Given the description of an element on the screen output the (x, y) to click on. 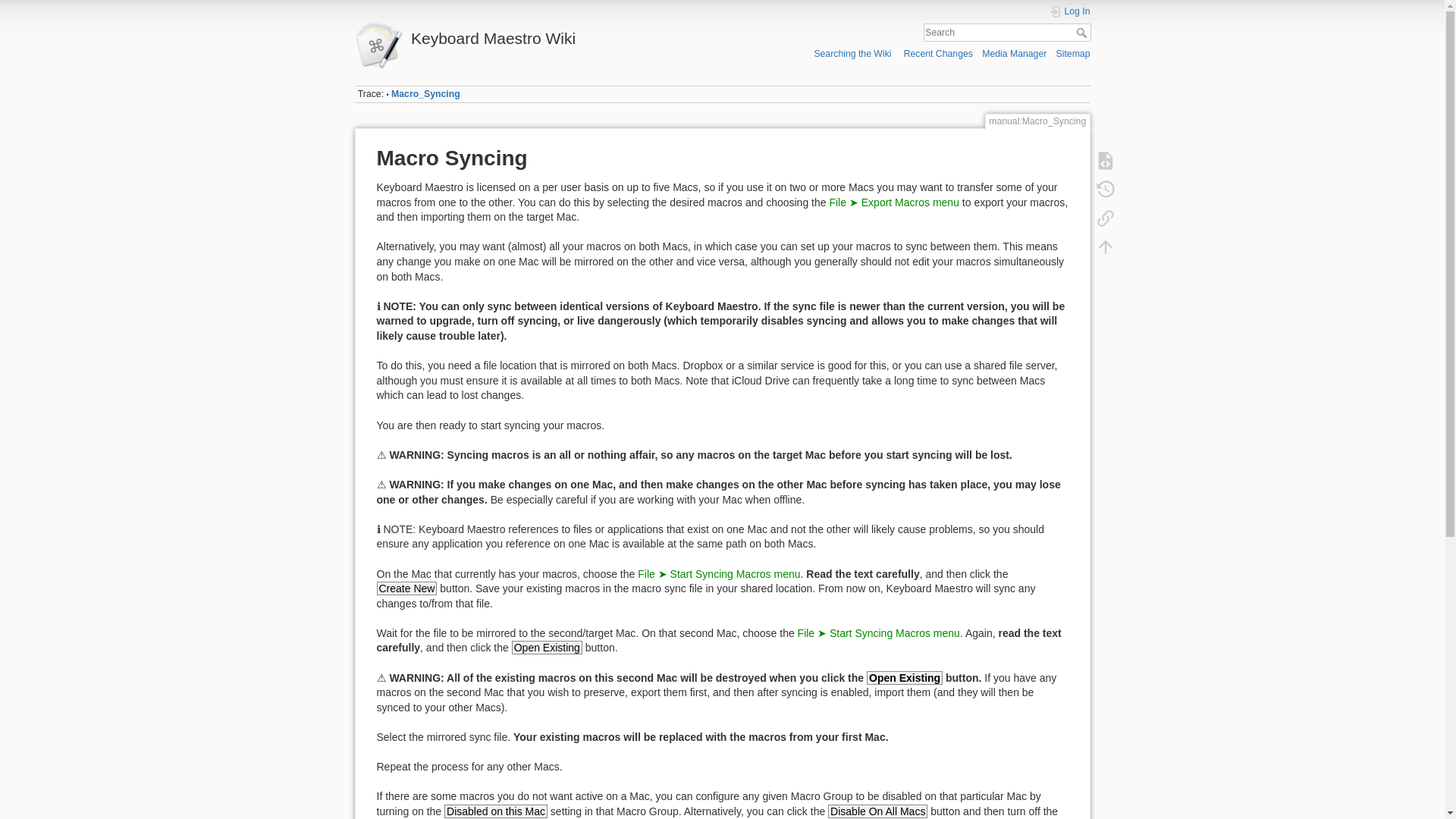
manual:Menus (878, 633)
Keyboard Maestro Wiki (534, 34)
Media Manager (1013, 53)
Searching the Wiki (852, 53)
Recent Changes (938, 53)
Searching the Wiki (852, 53)
Media Manager (1013, 53)
Log In (1069, 11)
Search (1082, 32)
manual:Menus (718, 573)
manual:Menus (893, 202)
Log In (1069, 11)
Sitemap (1073, 53)
Search (1082, 32)
